Given the description of an element on the screen output the (x, y) to click on. 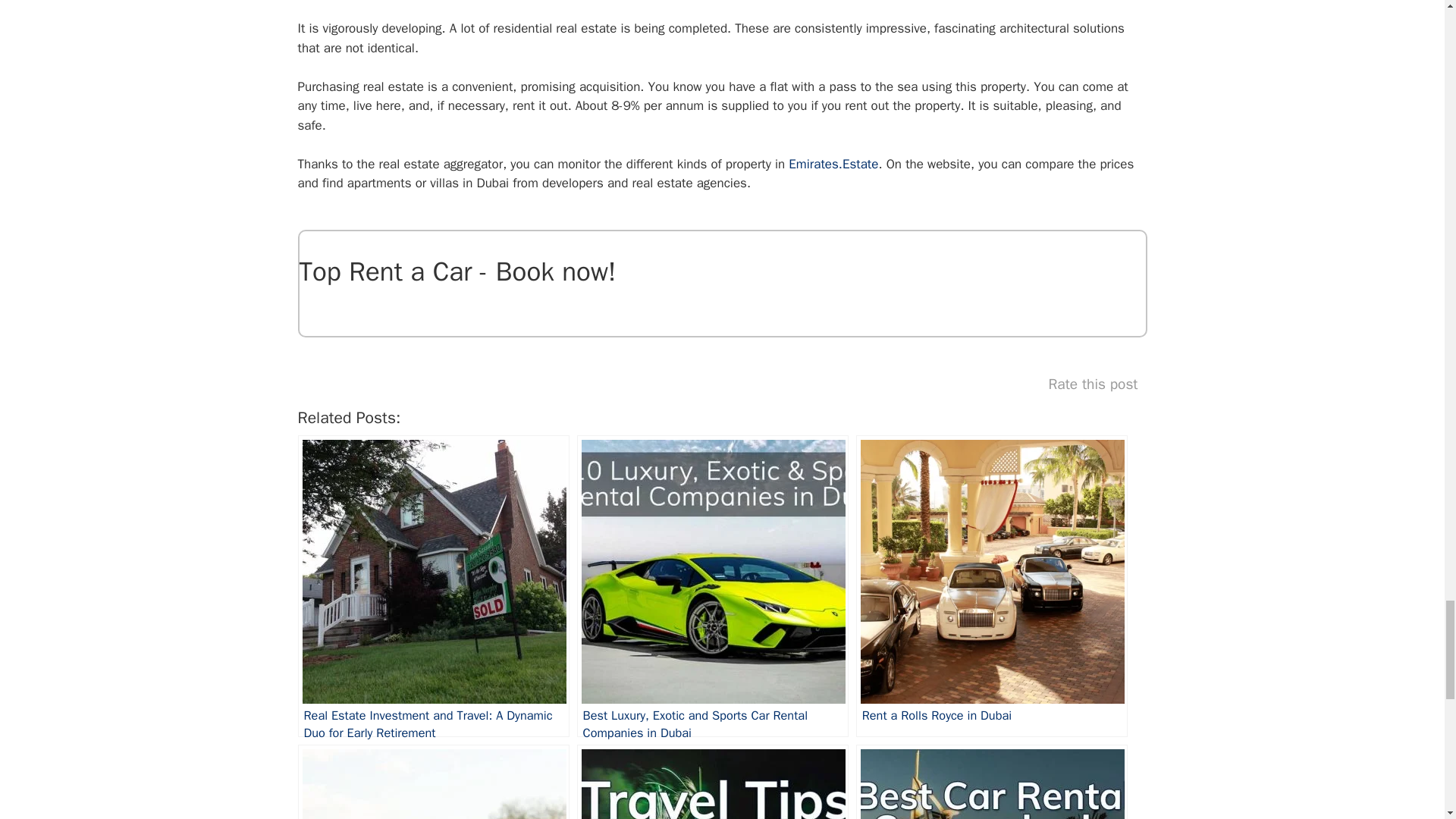
Best Car Rental Companies in Dubai (991, 781)
Emirates.Estate (833, 163)
Reasons Why Renting a Car Is Better for a Family Road Trip (433, 781)
Best Luxury, Exotic and Sports Car Rental Companies in Dubai (712, 585)
Rent a Rolls Royce in Dubai (991, 585)
Rent a Rolls Royce in Dubai (991, 585)
Reasons Why Renting a Car Is Better for a Family Road Trip (433, 781)
Best Luxury, Exotic and Sports Car Rental Companies in Dubai (712, 585)
Best Car Rental Companies in Dubai (991, 781)
